Given the description of an element on the screen output the (x, y) to click on. 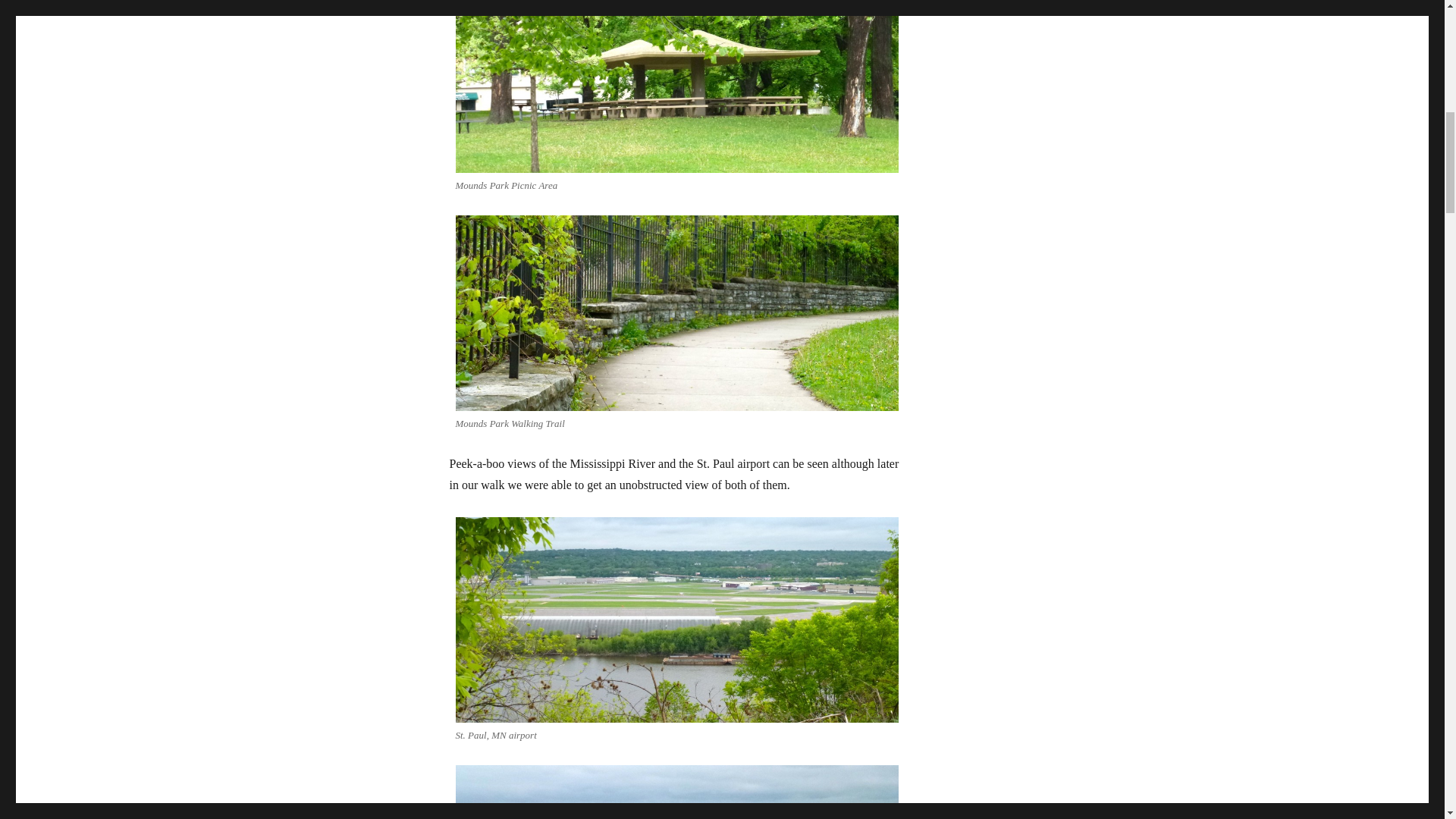
Mounds Park Walking Trail (676, 313)
View of Mississippi River (676, 791)
St. Paul airport (676, 619)
Mounds Park Picnic Area (676, 86)
